Given the description of an element on the screen output the (x, y) to click on. 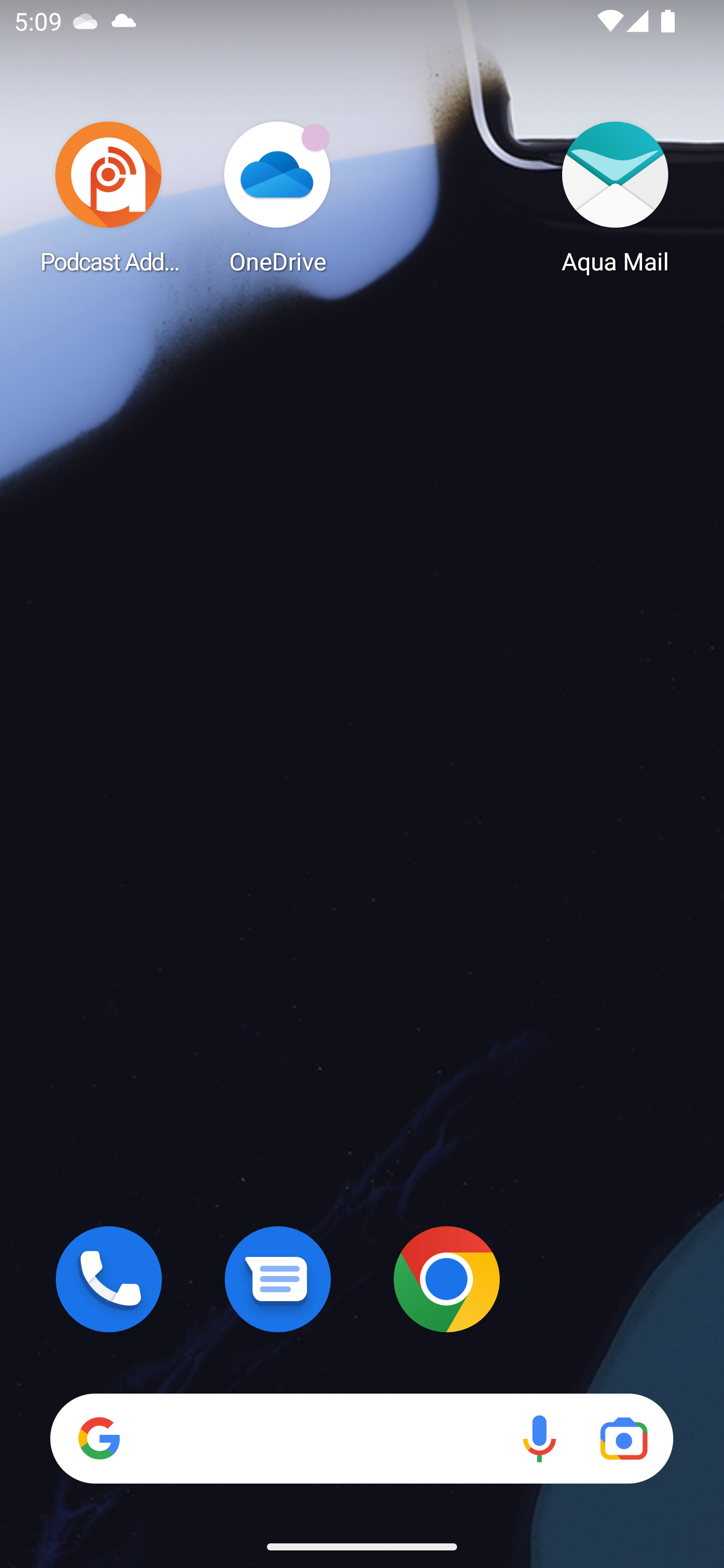
Podcast Addict (108, 196)
OneDrive OneDrive has 1 notification (277, 196)
Aqua Mail (615, 196)
Phone (108, 1279)
Messages (277, 1279)
Chrome (446, 1279)
Search Voice search Google Lens (361, 1438)
Voice search (539, 1438)
Google Lens (623, 1438)
